Given the description of an element on the screen output the (x, y) to click on. 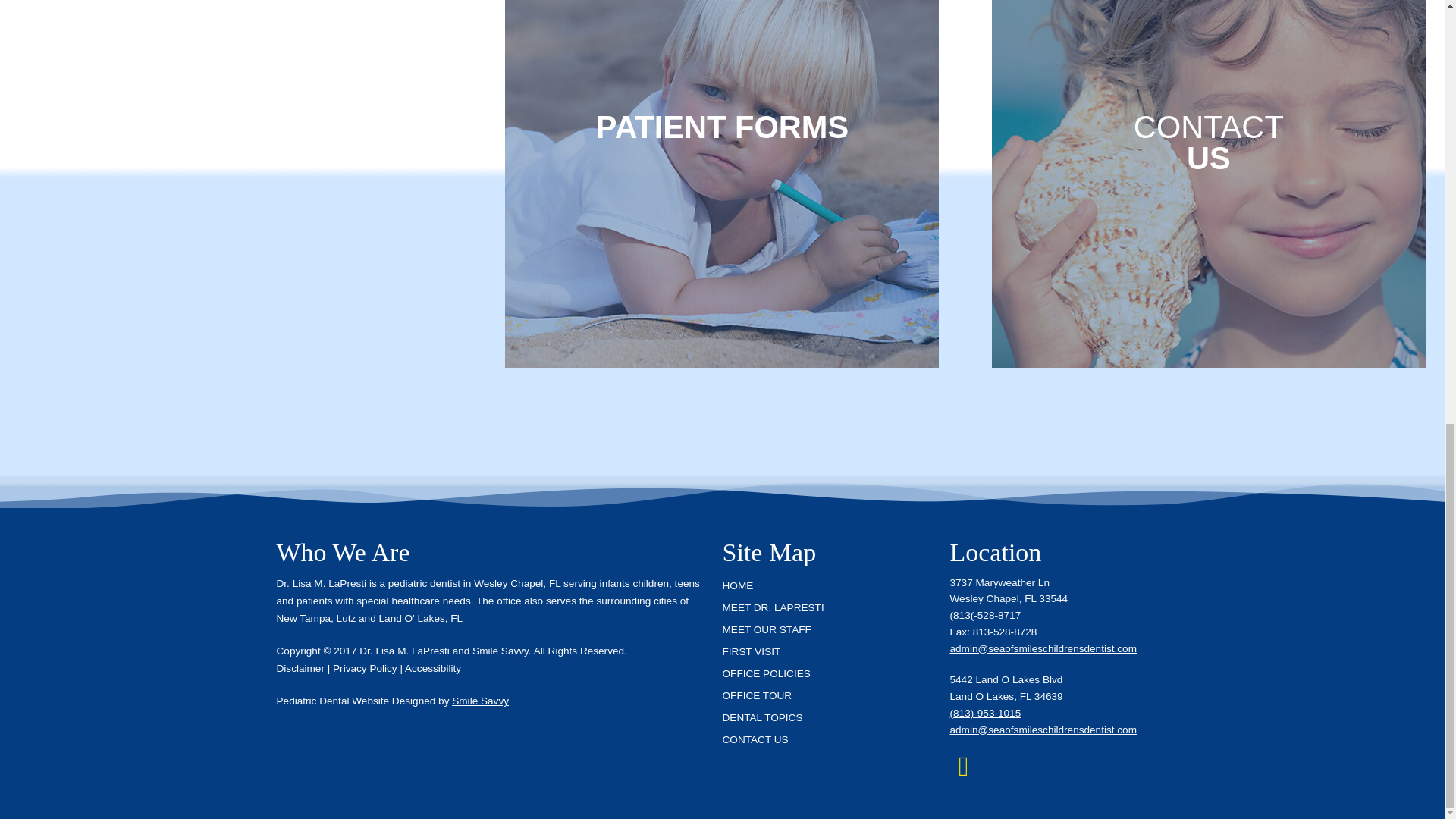
Facebook (962, 766)
